Given the description of an element on the screen output the (x, y) to click on. 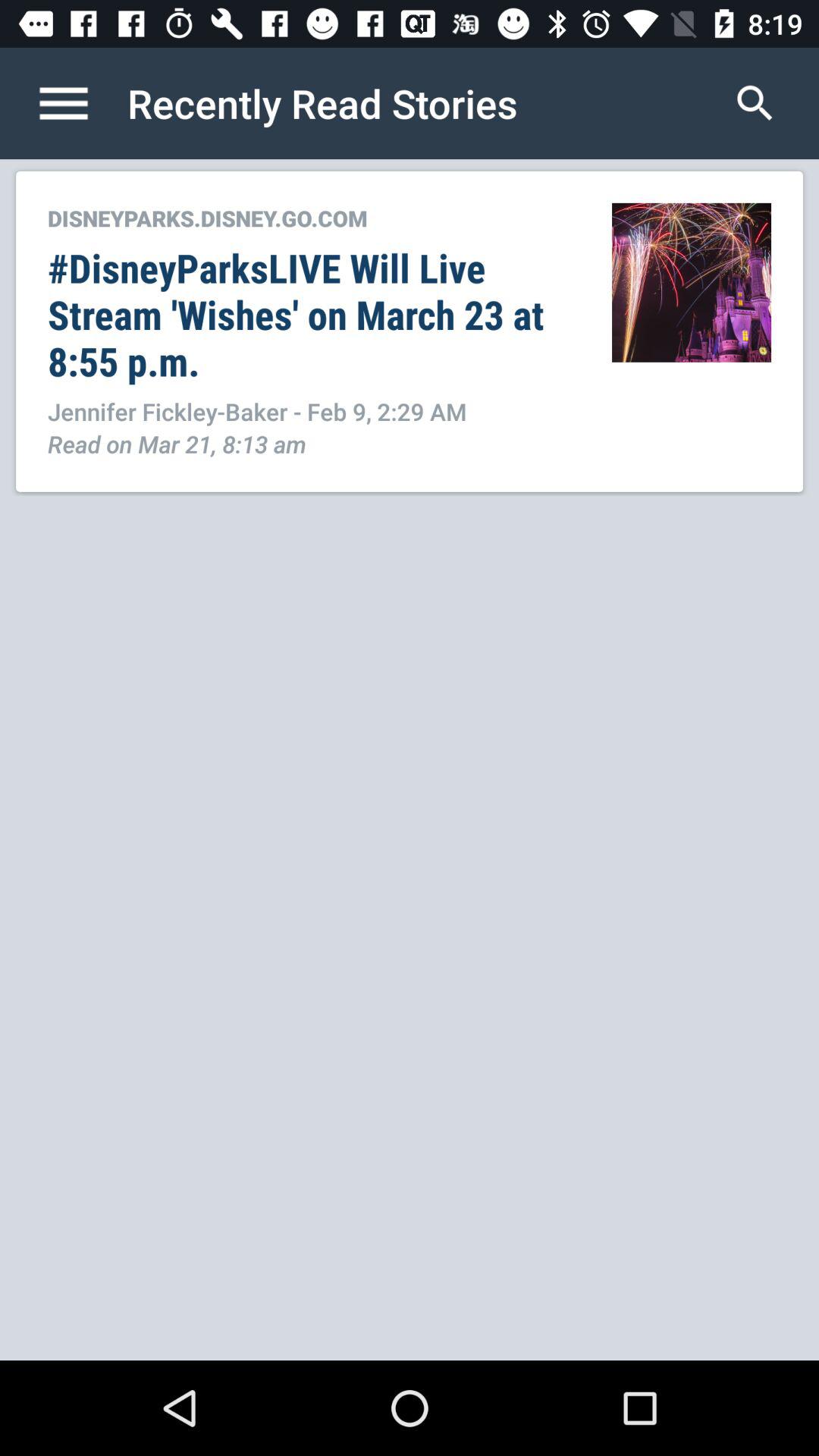
click item above the jennifer fickley baker icon (313, 314)
